Given the description of an element on the screen output the (x, y) to click on. 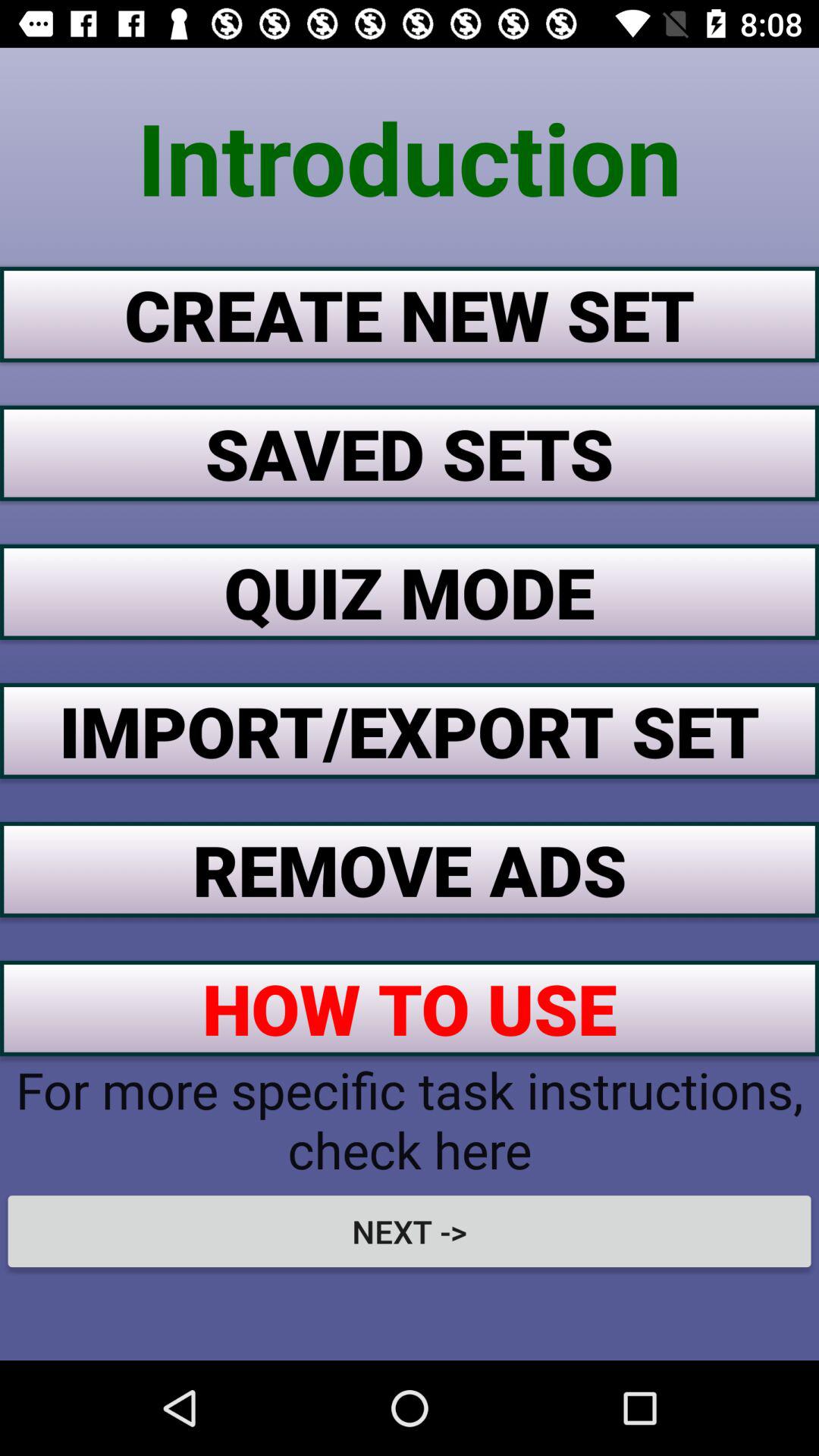
jump to create new set icon (409, 314)
